Given the description of an element on the screen output the (x, y) to click on. 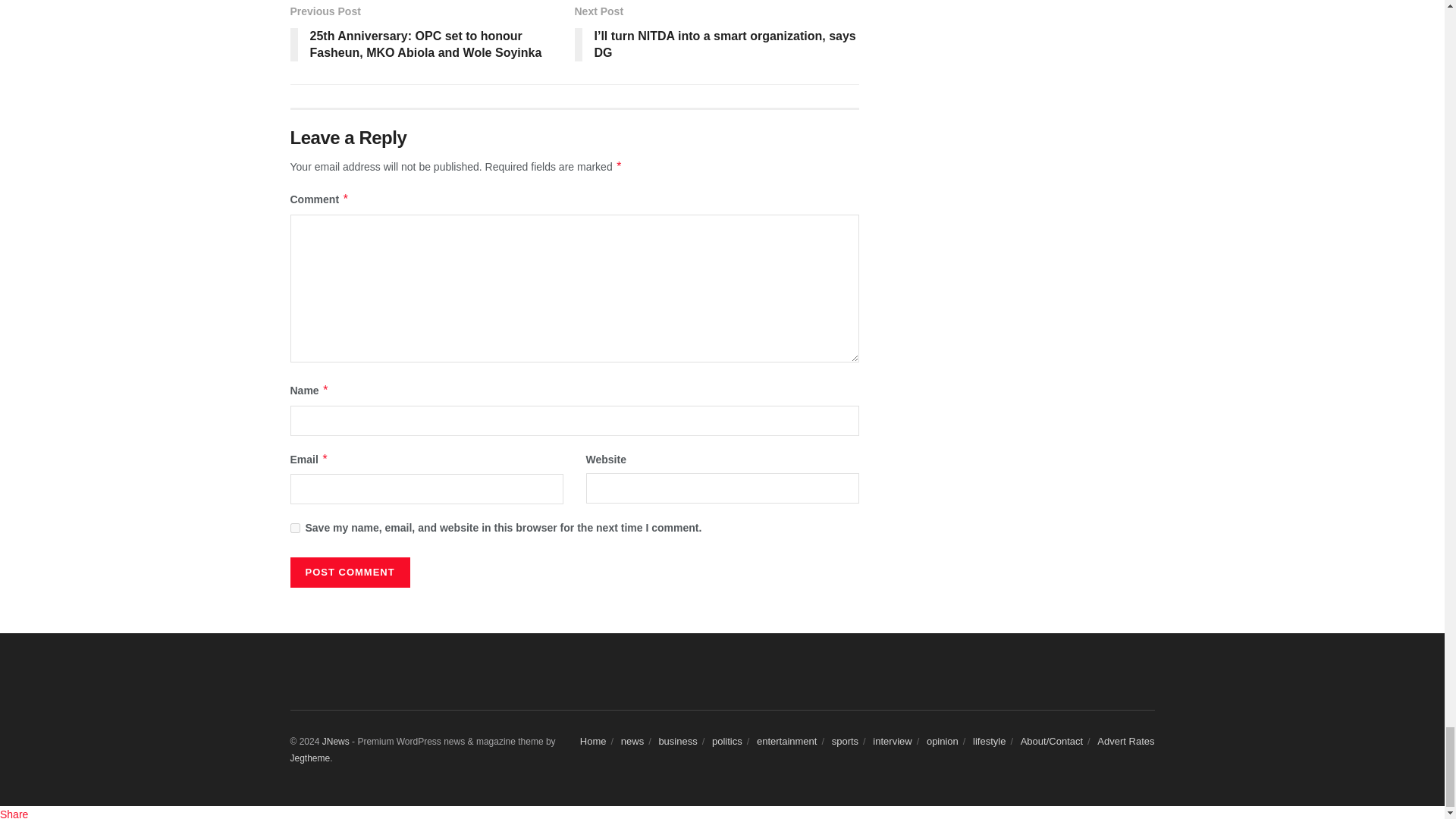
Post Comment (349, 572)
Jegtheme (309, 757)
yes (294, 528)
